Given the description of an element on the screen output the (x, y) to click on. 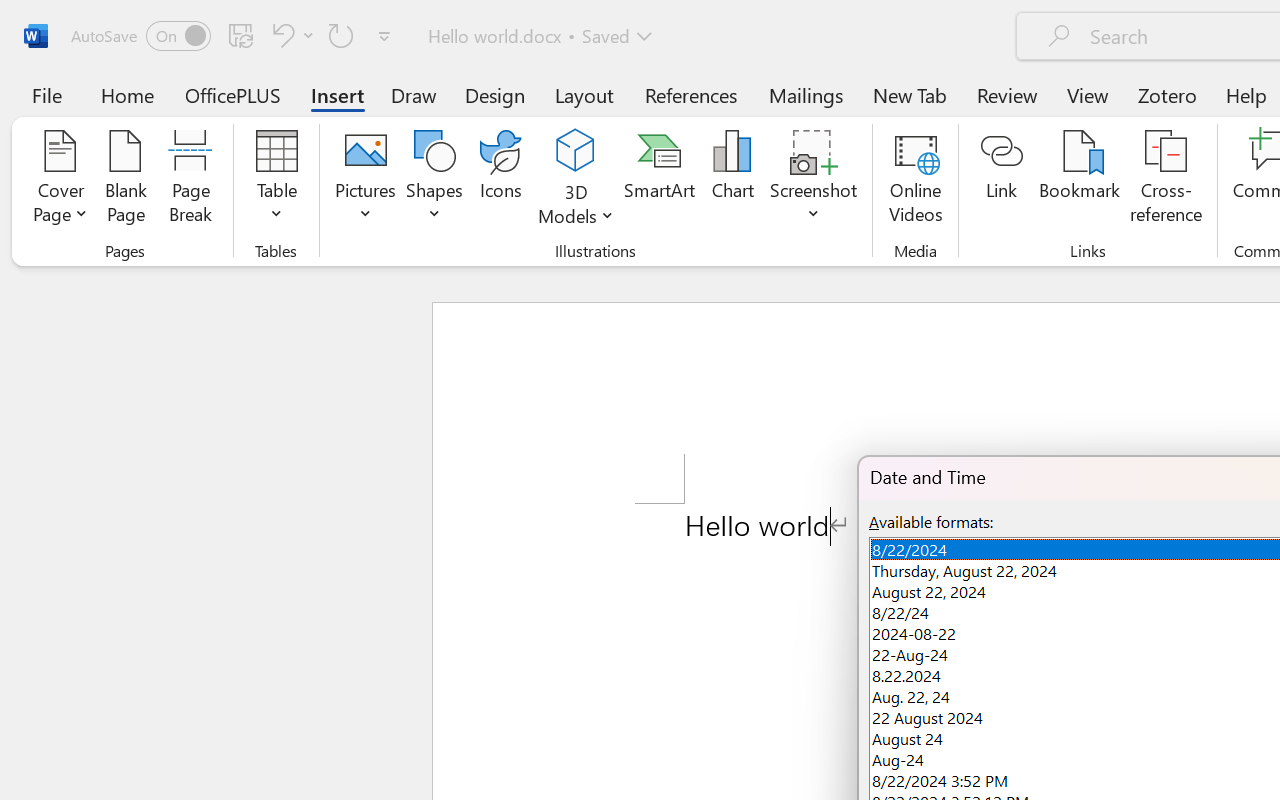
Screenshot (813, 179)
Home (127, 94)
Bookmark... (1079, 179)
Zotero (1166, 94)
Quick Access Toolbar (233, 36)
References (690, 94)
Table (276, 179)
Cross-reference... (1165, 179)
Cover Page (60, 179)
3D Models (576, 151)
